Given the description of an element on the screen output the (x, y) to click on. 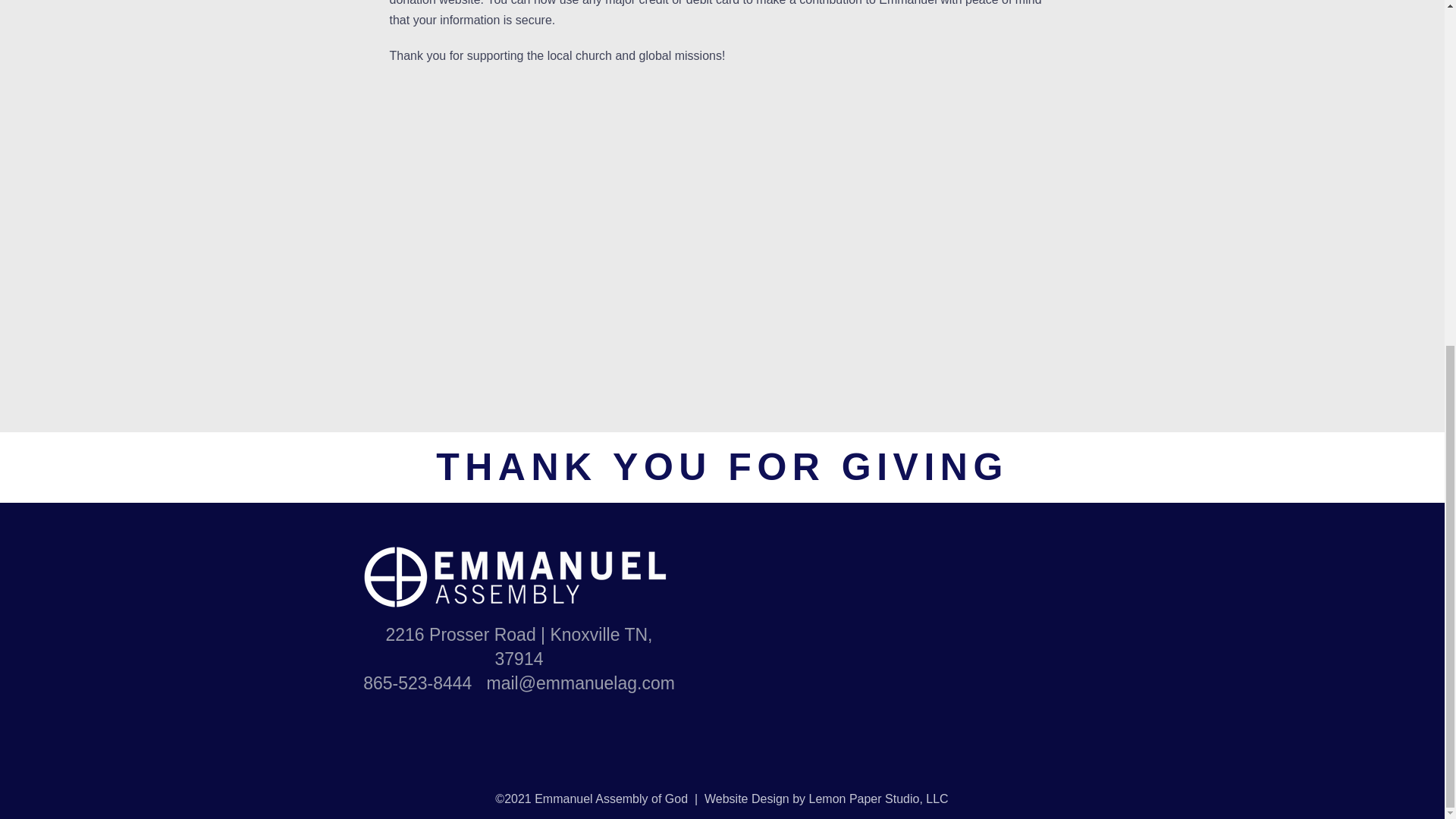
Emmanuel Assembly of God (550, 577)
Emmanuel Assembly of God (395, 576)
